Given the description of an element on the screen output the (x, y) to click on. 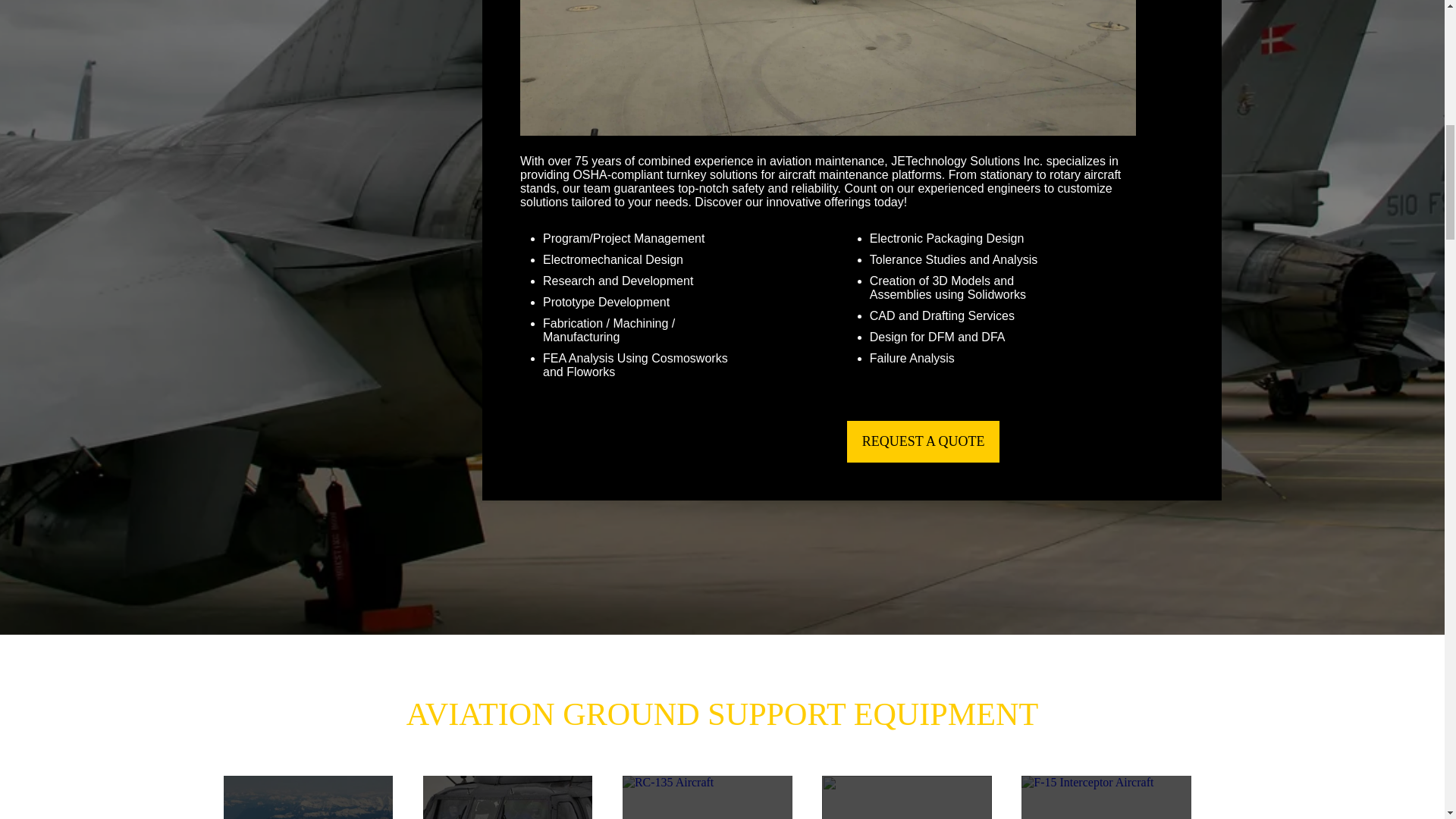
Want More Information? (923, 441)
